Given the description of an element on the screen output the (x, y) to click on. 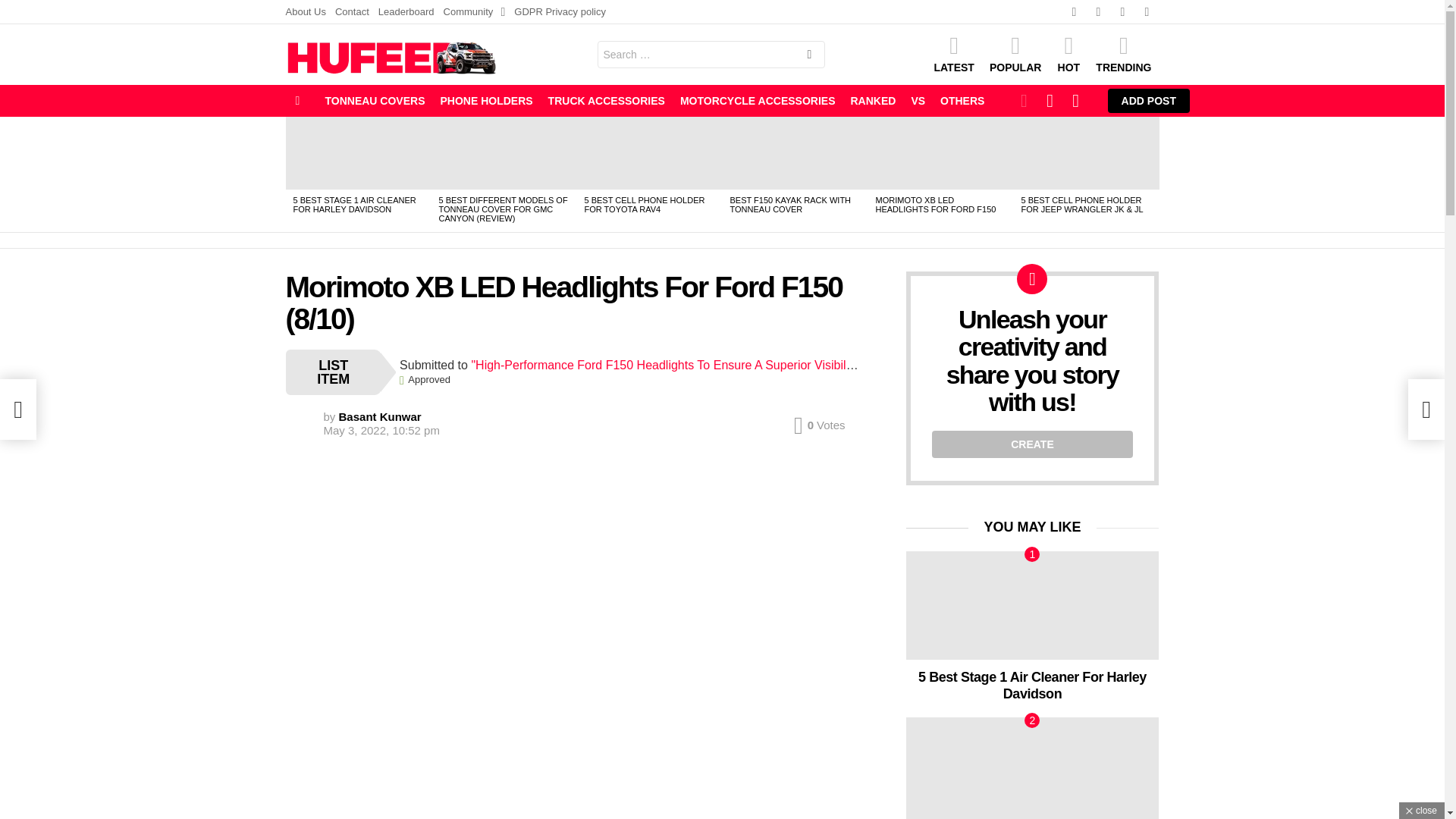
facebook (1073, 11)
TRUCK ACCESSORIES (606, 100)
TONNEAU COVERS (374, 100)
Best F150 Kayak Rack With Tonneau Cover (794, 153)
Menu (296, 100)
VS (917, 100)
Contact (351, 12)
twitter (1097, 11)
GDPR Privacy policy (559, 12)
Community (474, 12)
Posts by Basant Kunwar (380, 416)
SEARCH (808, 56)
5 Best Stage 1 Air Cleaner For Harley Davidson (357, 153)
OTHERS (962, 100)
POPULAR (1014, 53)
